Given the description of an element on the screen output the (x, y) to click on. 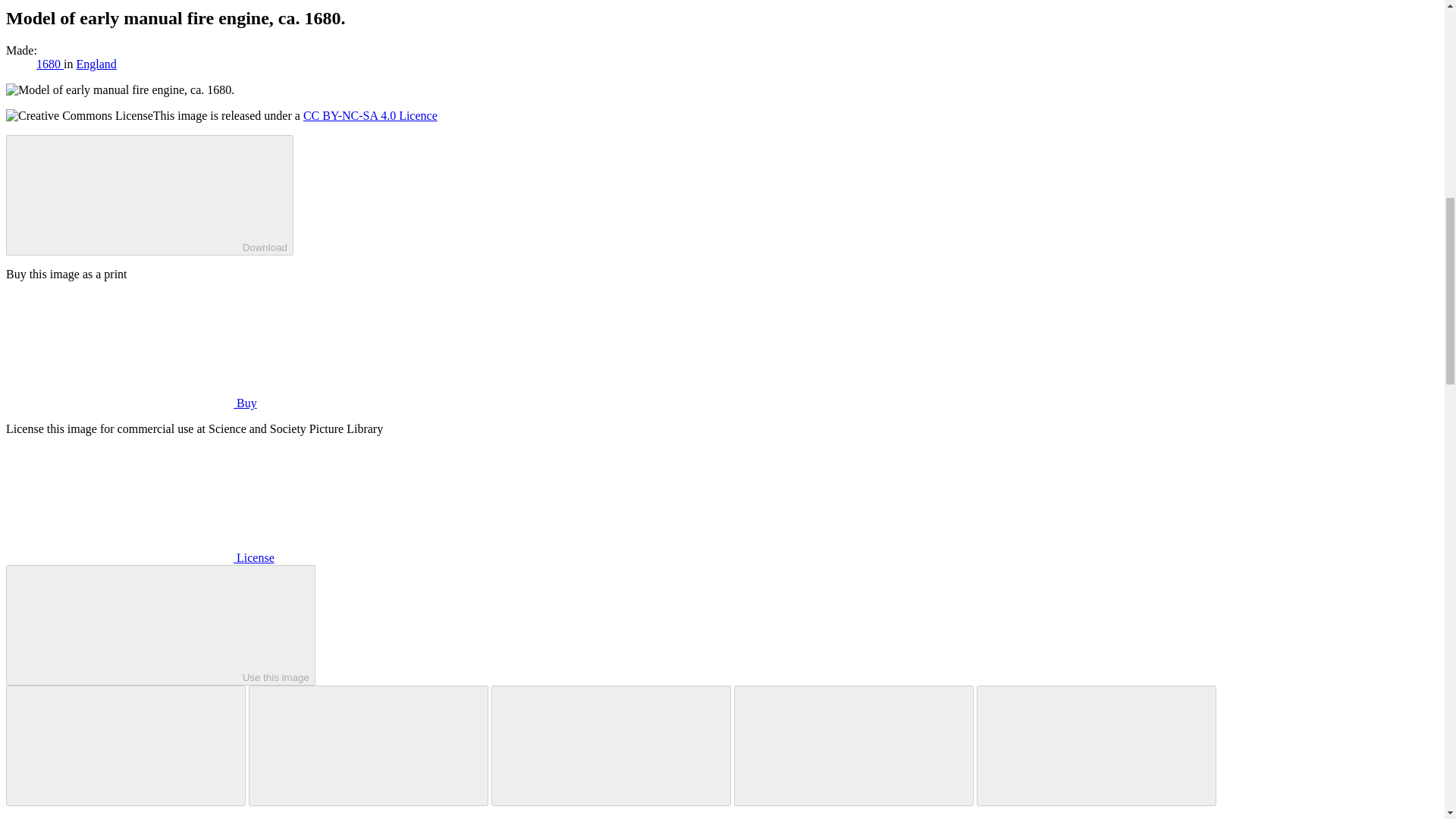
Use this image (160, 625)
Download (149, 195)
England (95, 63)
CC BY-NC-SA 4.0 Licence (370, 115)
1680 (50, 63)
Buy (131, 402)
License (140, 557)
